Given the description of an element on the screen output the (x, y) to click on. 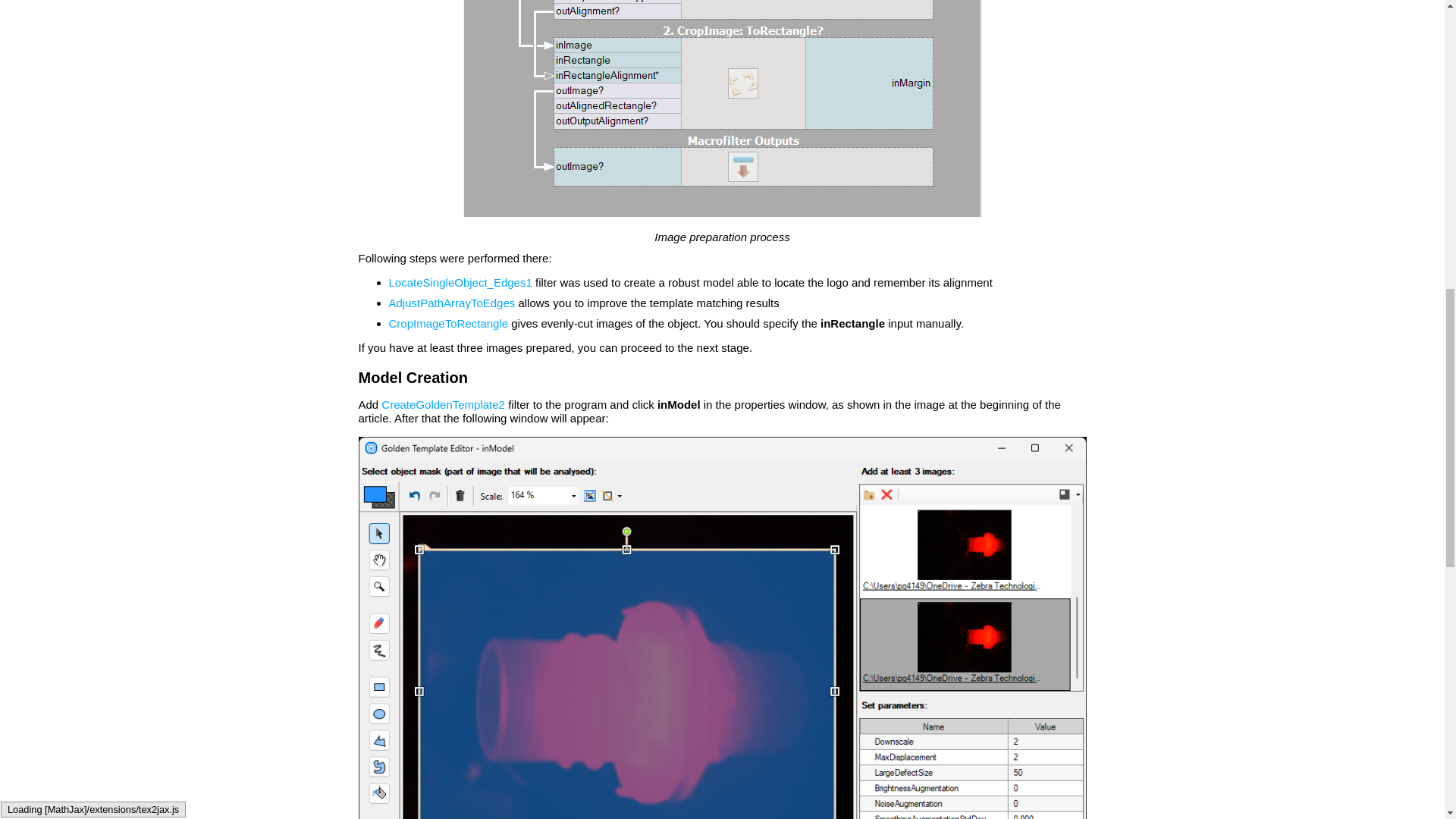
AdjustPathArrayToEdges (451, 302)
CropImageToRectangle (448, 323)
CreateGoldenTemplate2 (443, 404)
inRectangle (853, 323)
